Given the description of an element on the screen output the (x, y) to click on. 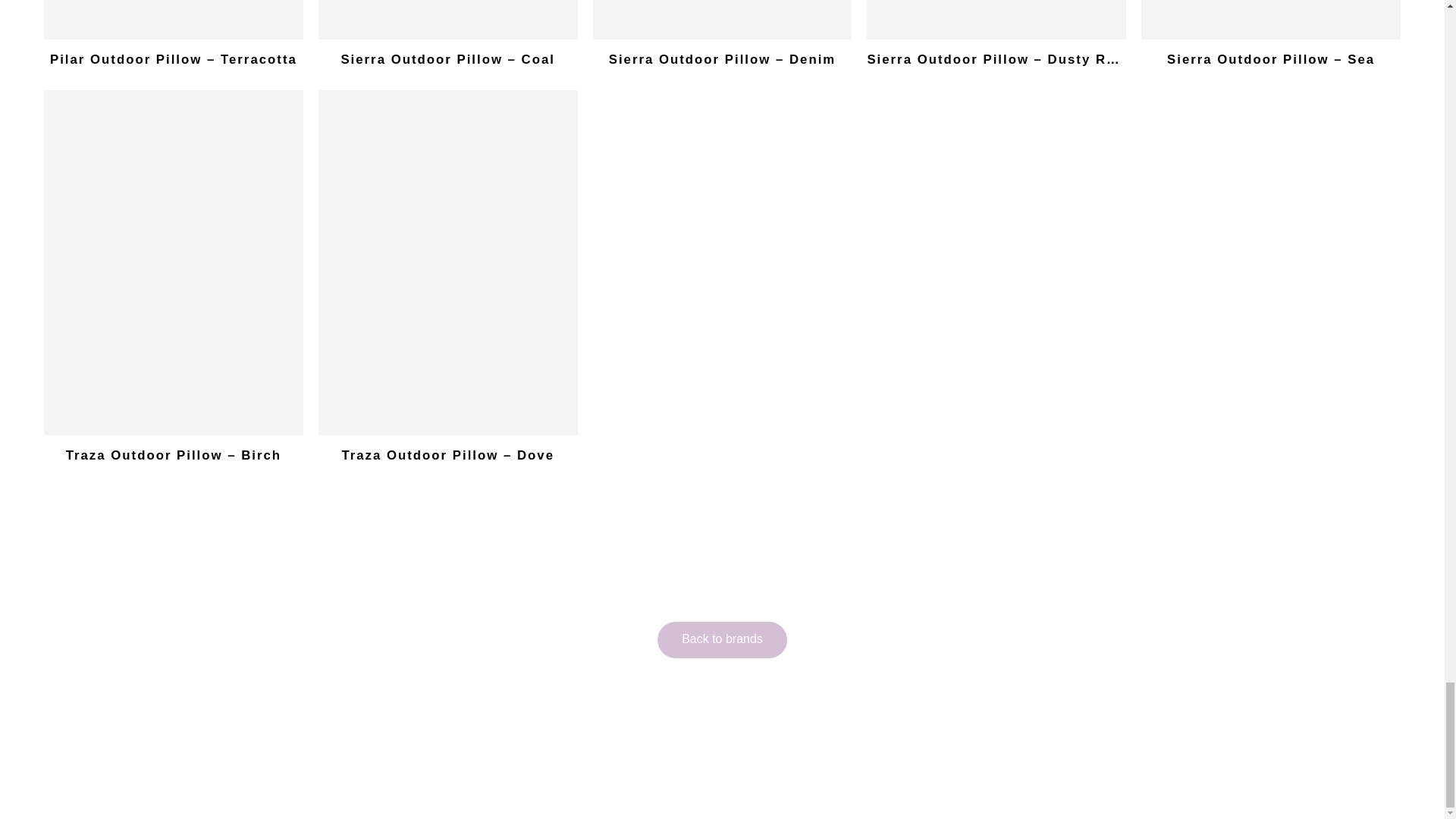
Our Brands (722, 639)
